Given the description of an element on the screen output the (x, y) to click on. 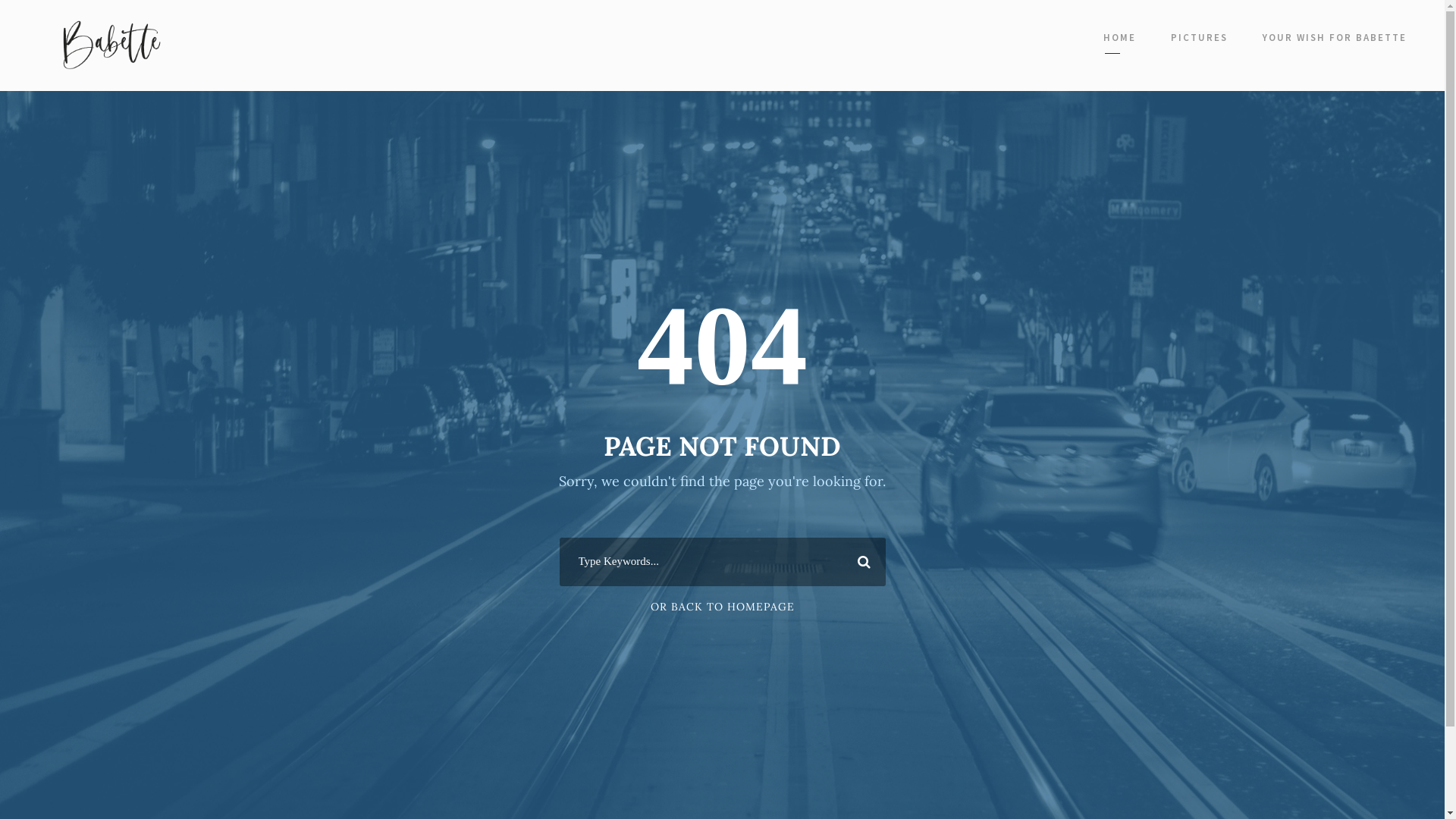
Search Element type: text (860, 561)
PICTURES Element type: text (1198, 41)
Babette_zwart_space Element type: hover (113, 45)
HOME Element type: text (1119, 41)
OR BACK TO HOMEPAGE Element type: text (722, 606)
YOUR WISH FOR BABETTE Element type: text (1334, 41)
